Given the description of an element on the screen output the (x, y) to click on. 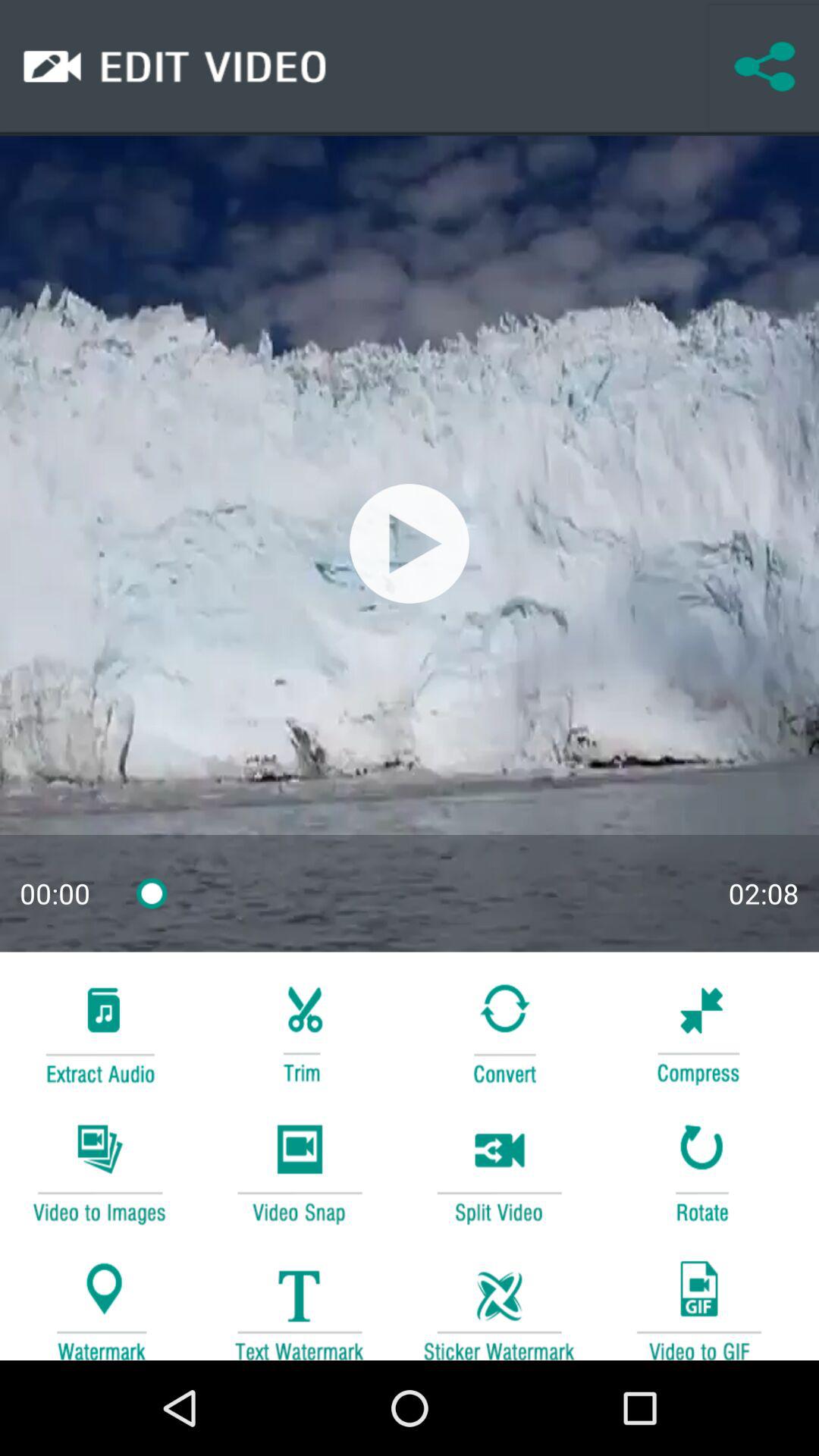
rotate option (698, 1171)
